Given the description of an element on the screen output the (x, y) to click on. 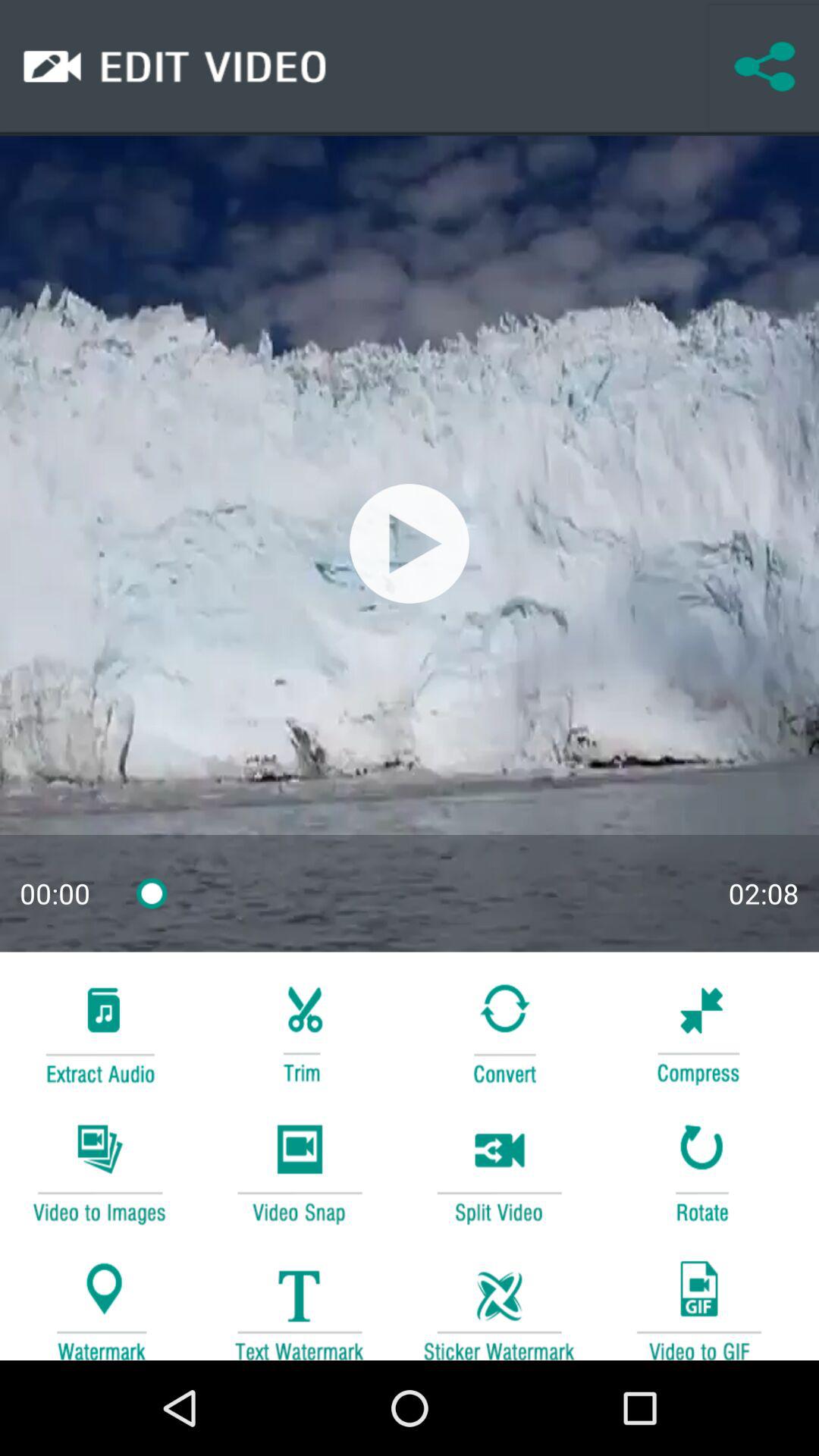
rotate option (698, 1171)
